Given the description of an element on the screen output the (x, y) to click on. 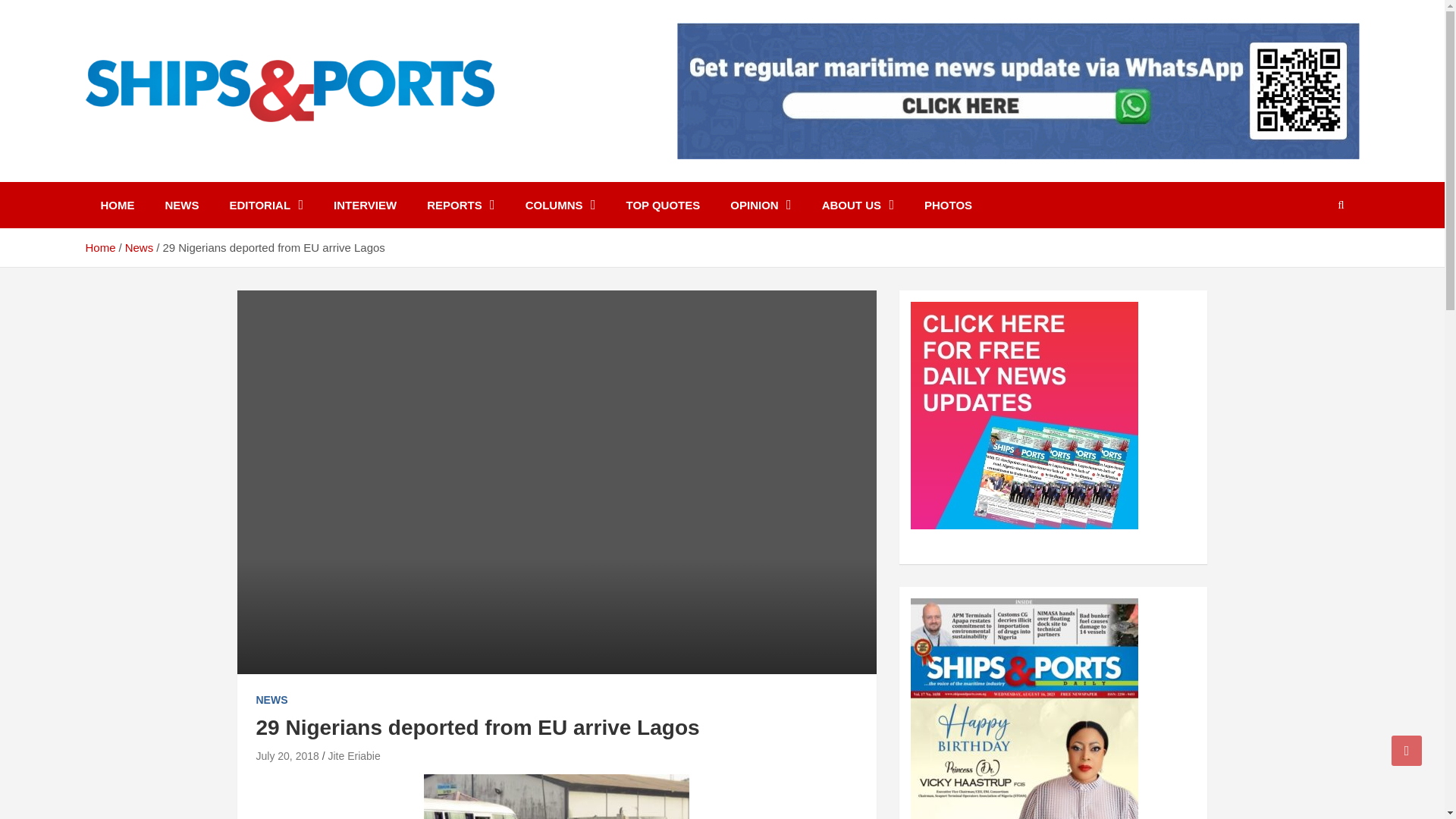
July 20, 2018 (287, 756)
NEWS (181, 204)
REPORTS (461, 204)
Jite Eriabie (353, 756)
HOME (116, 204)
PHOTOS (947, 204)
ABOUT US (857, 204)
TOP QUOTES (662, 204)
EDITORIAL (266, 204)
NEWS (272, 700)
